Given the description of an element on the screen output the (x, y) to click on. 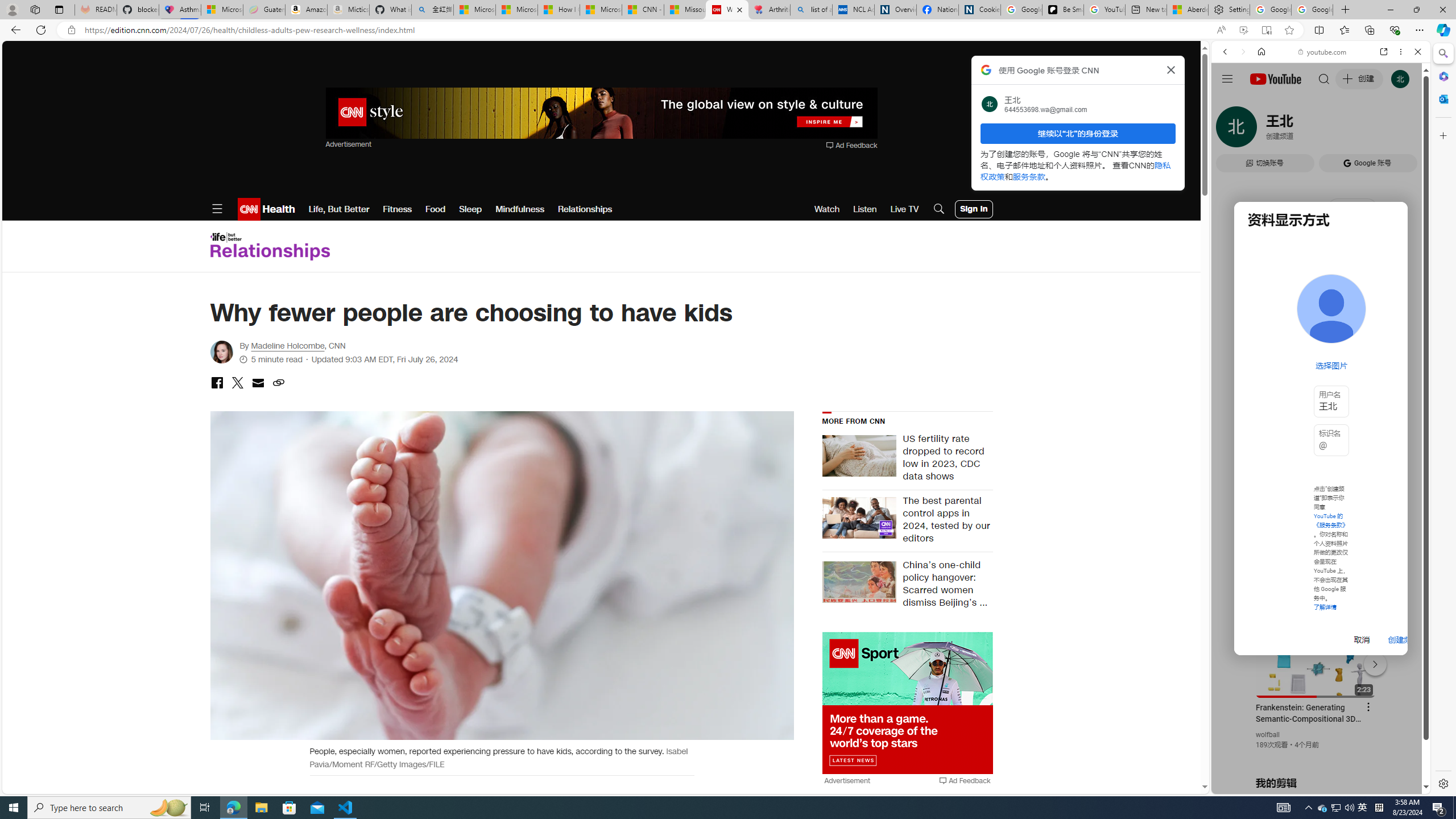
Fitness (397, 209)
Music (1320, 309)
